Given the description of an element on the screen output the (x, y) to click on. 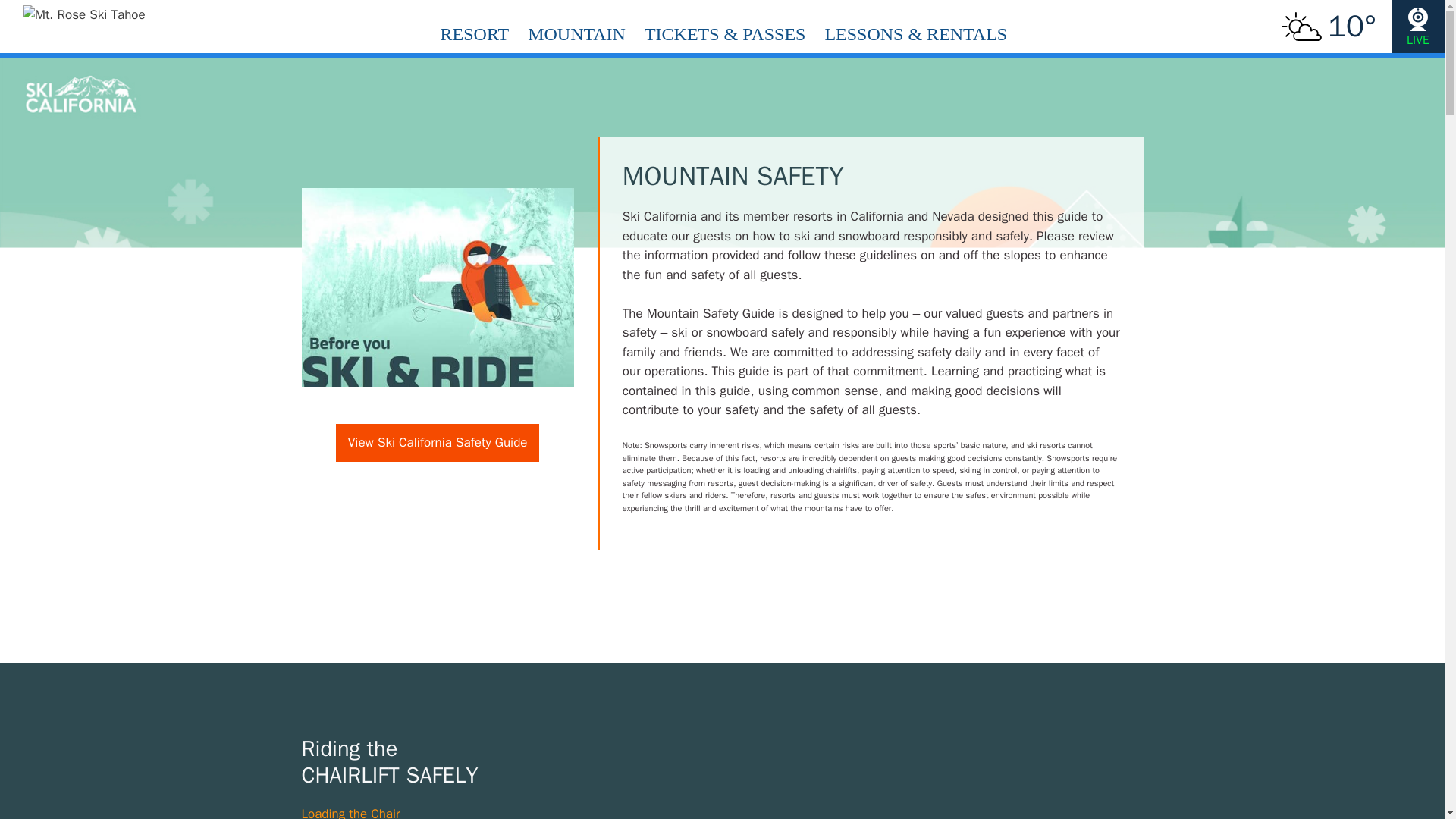
RESORT (475, 26)
